Given the description of an element on the screen output the (x, y) to click on. 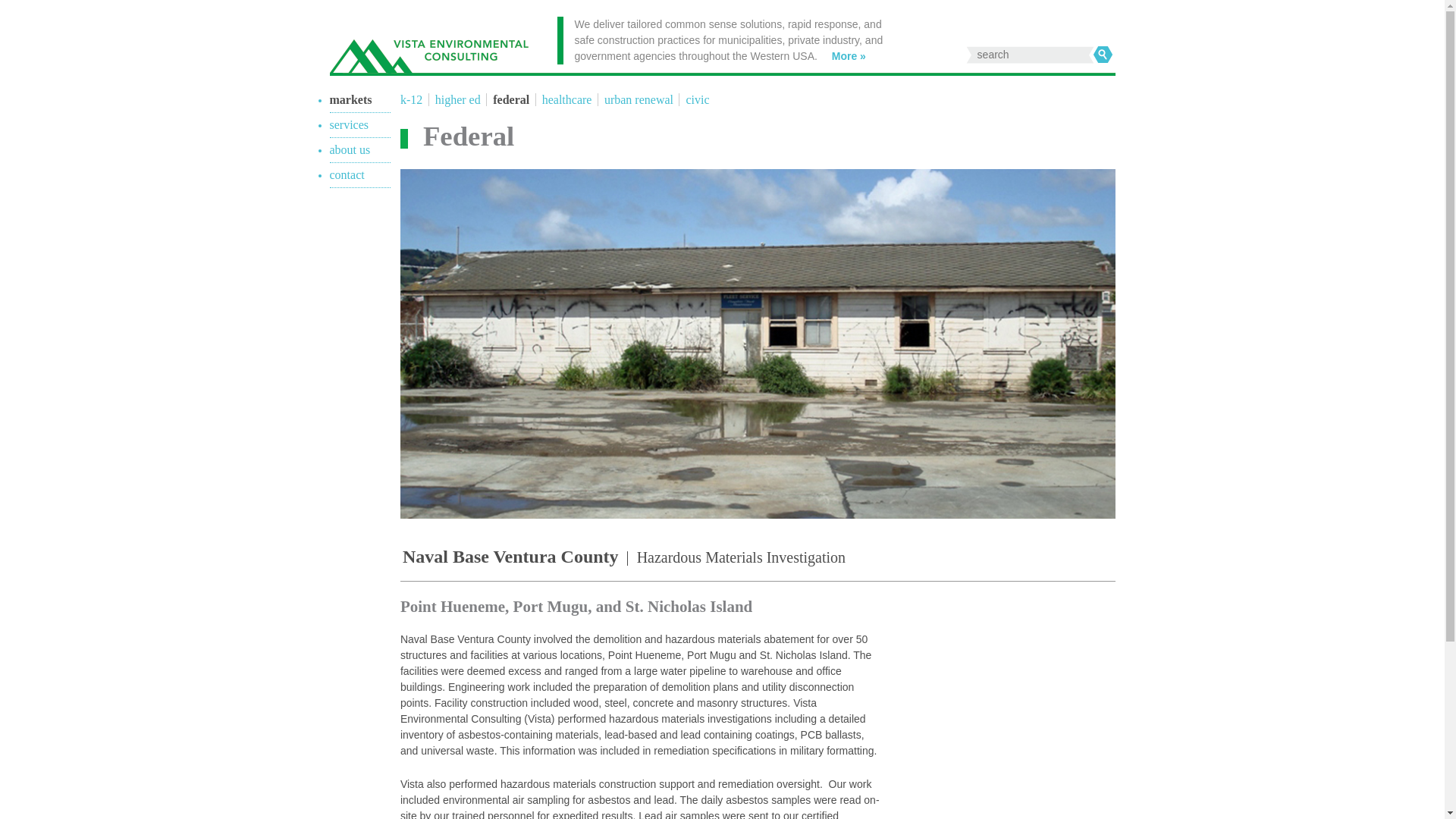
civic (694, 99)
federal (509, 99)
urban renewal (636, 99)
contact (346, 174)
k-12 (412, 99)
higher ed (455, 99)
healthcare (565, 99)
about us (349, 149)
